Given the description of an element on the screen output the (x, y) to click on. 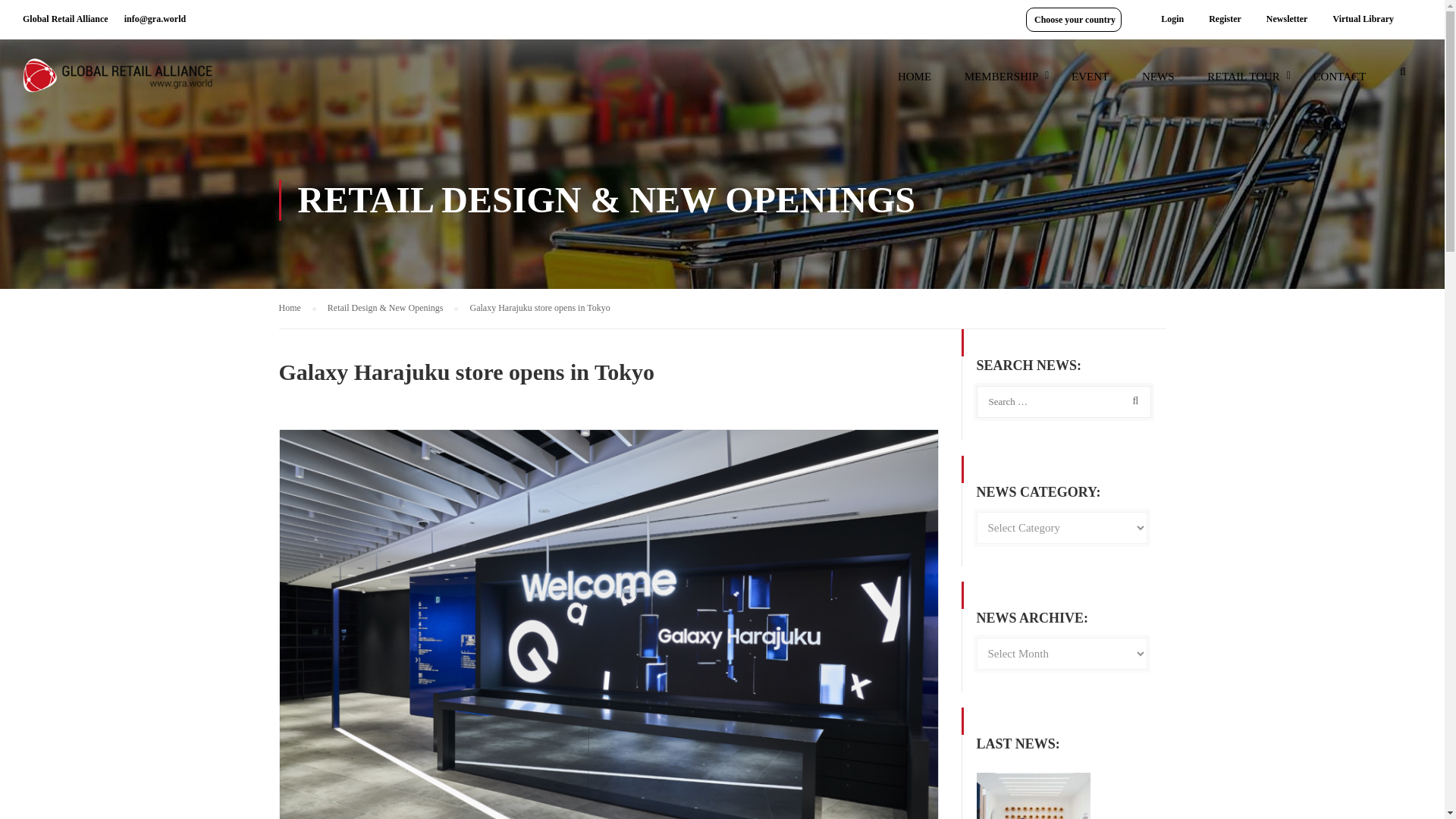
CONTACT (1339, 83)
Virtual Library (1362, 18)
HOME (914, 83)
Search (1403, 76)
Search (1132, 400)
Home (297, 307)
Login (1172, 18)
RETAIL TOUR (1243, 83)
Search (1403, 76)
MEMBERSHIP (1001, 83)
Newsletter (1287, 18)
Search (1132, 400)
EVENT (1090, 83)
Galaxy Harajuku store opens in Tokyo (539, 307)
Register (1224, 18)
